Given the description of an element on the screen output the (x, y) to click on. 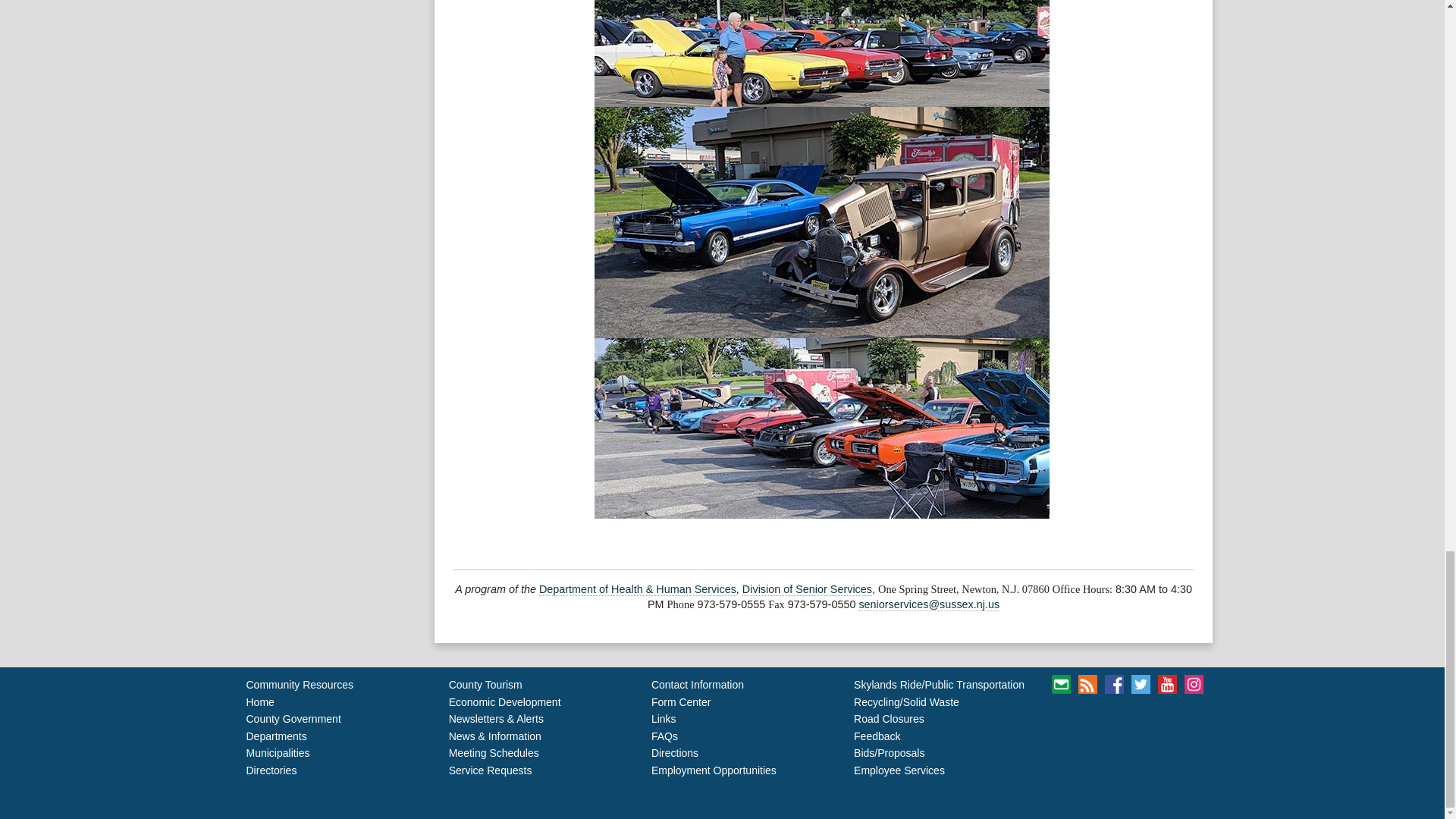
Visit our RSS feed (1087, 683)
Email us... (928, 604)
Follow us on Twitter (1140, 683)
Visit our Instagram page (1194, 683)
Sign Up for emails from Sussex County (1060, 683)
Visit our YouTube channel (1166, 683)
Visit our Facebook page (1114, 683)
